Given the description of an element on the screen output the (x, y) to click on. 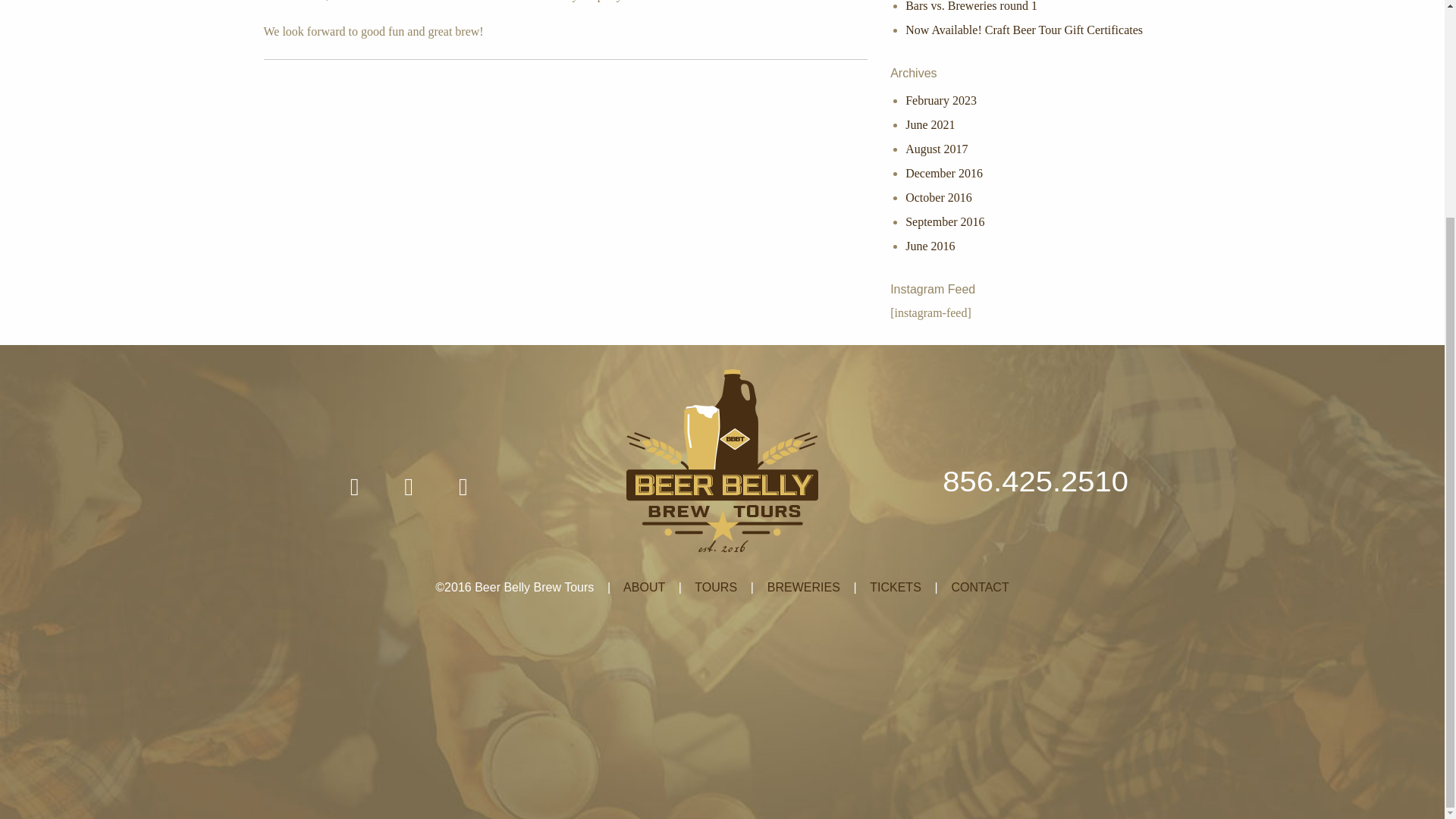
CONTACT (980, 586)
December 2016 (943, 173)
Beer Belly Brew Tours on X Twitter (408, 486)
Beer Belly Brew Tours on Facebook (354, 486)
October 2016 (938, 196)
BREWERIES (803, 586)
ABOUT (644, 586)
contact us (355, 0)
Beer Belly Brew Tours on Instagram (463, 486)
Now Available! Craft Beer Tour Gift Certificates (1023, 29)
August 2017 (936, 148)
June 2016 (930, 245)
February 2023 (940, 100)
June 2021 (930, 124)
September 2016 (944, 221)
